Given the description of an element on the screen output the (x, y) to click on. 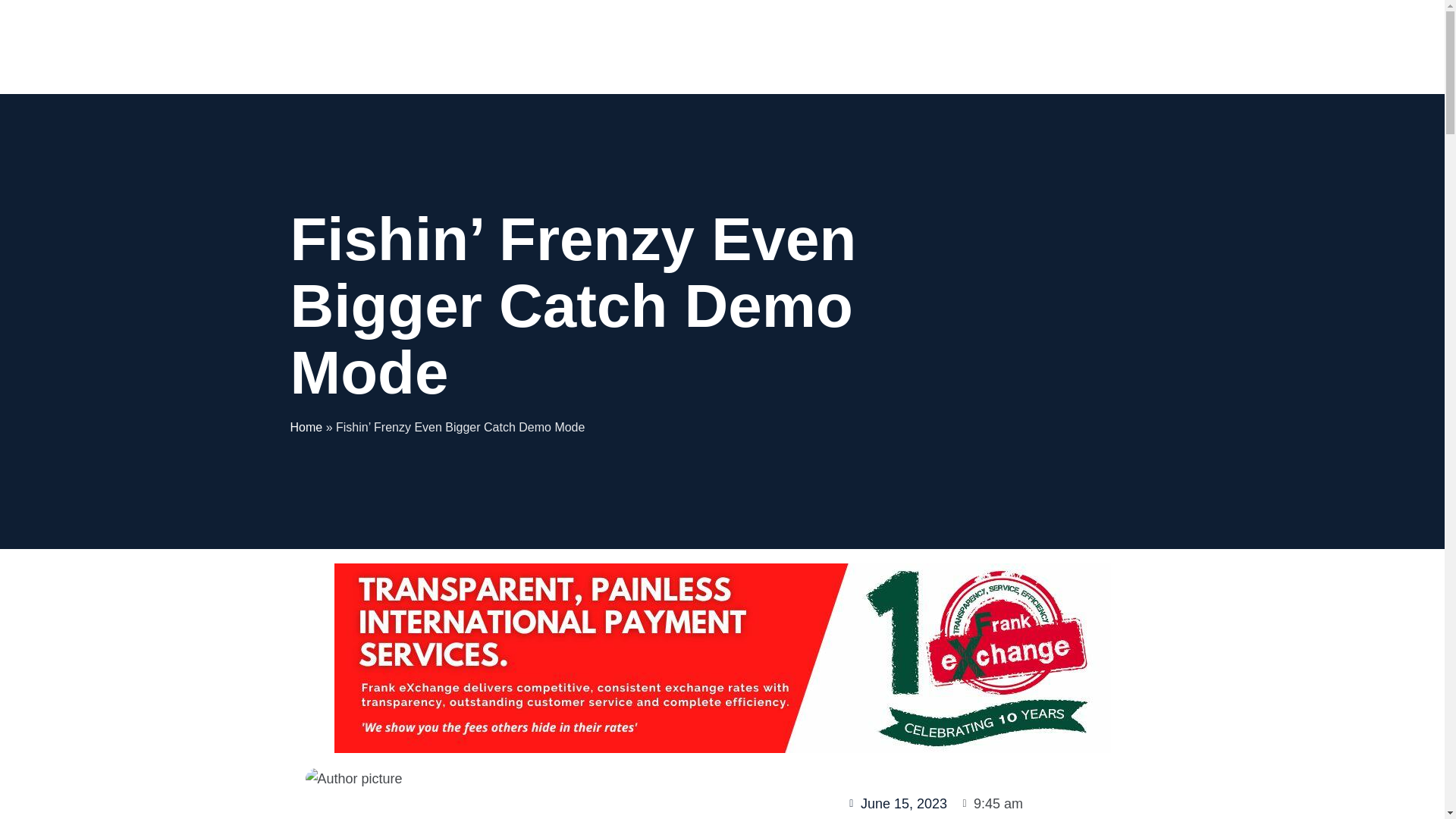
Home (305, 427)
June 15, 2023 (896, 803)
